Given the description of an element on the screen output the (x, y) to click on. 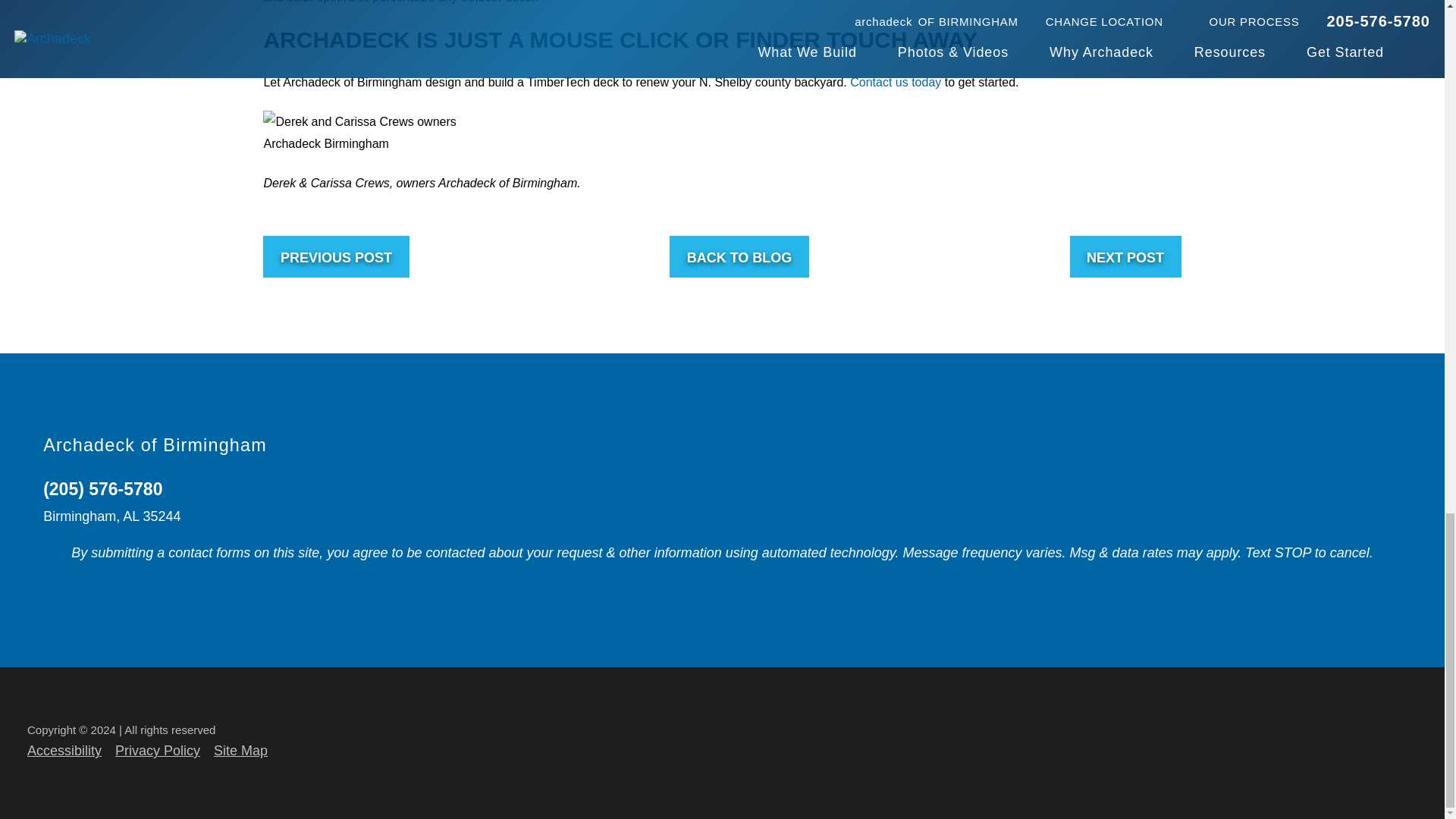
LinkedIn (1253, 447)
Instagram (1328, 484)
Twitter (1328, 447)
Google My Business (1289, 484)
Facebook (1215, 447)
YouTube (1289, 447)
